Given the description of an element on the screen output the (x, y) to click on. 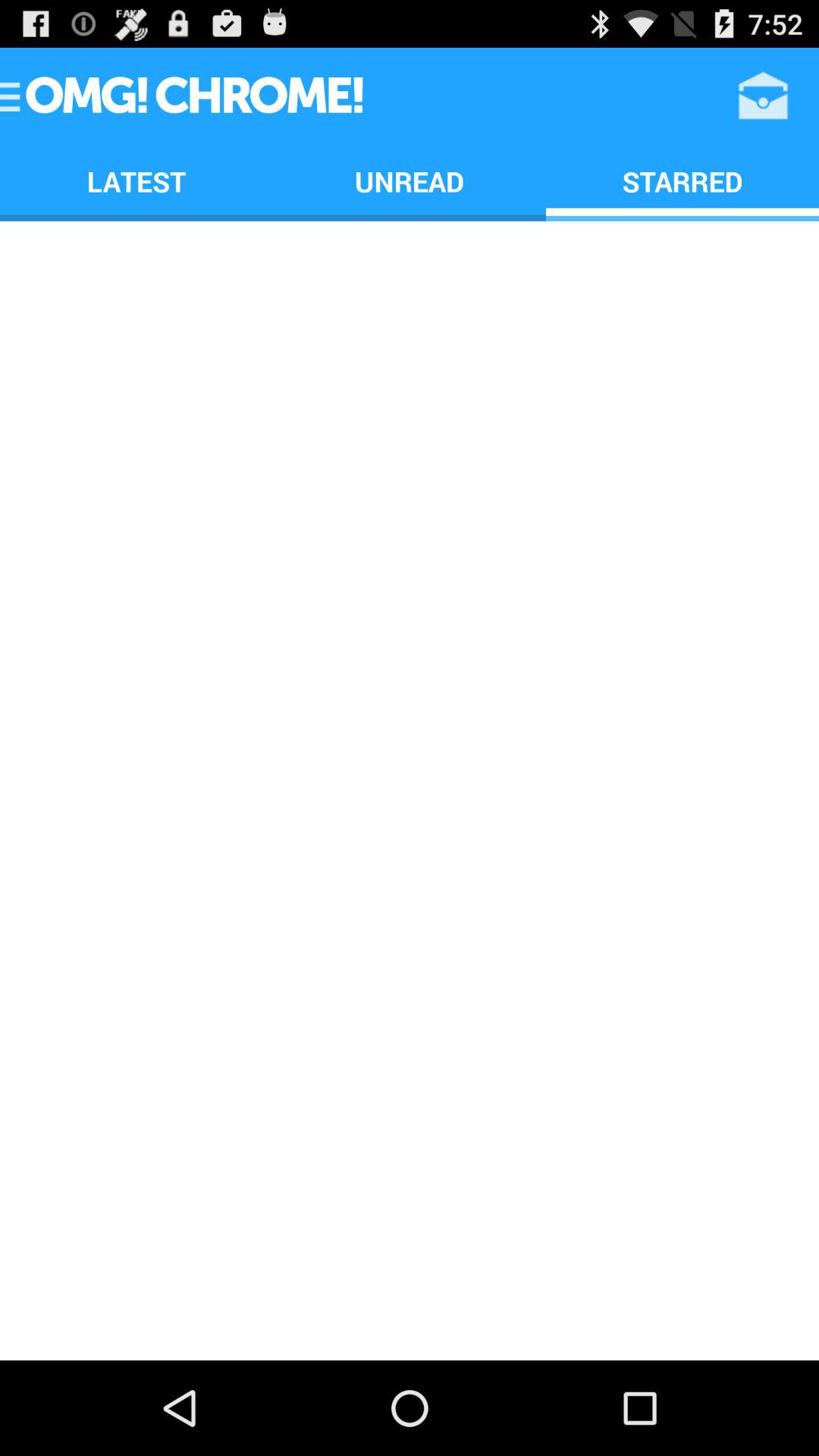
tap the starred icon (682, 181)
